Given the description of an element on the screen output the (x, y) to click on. 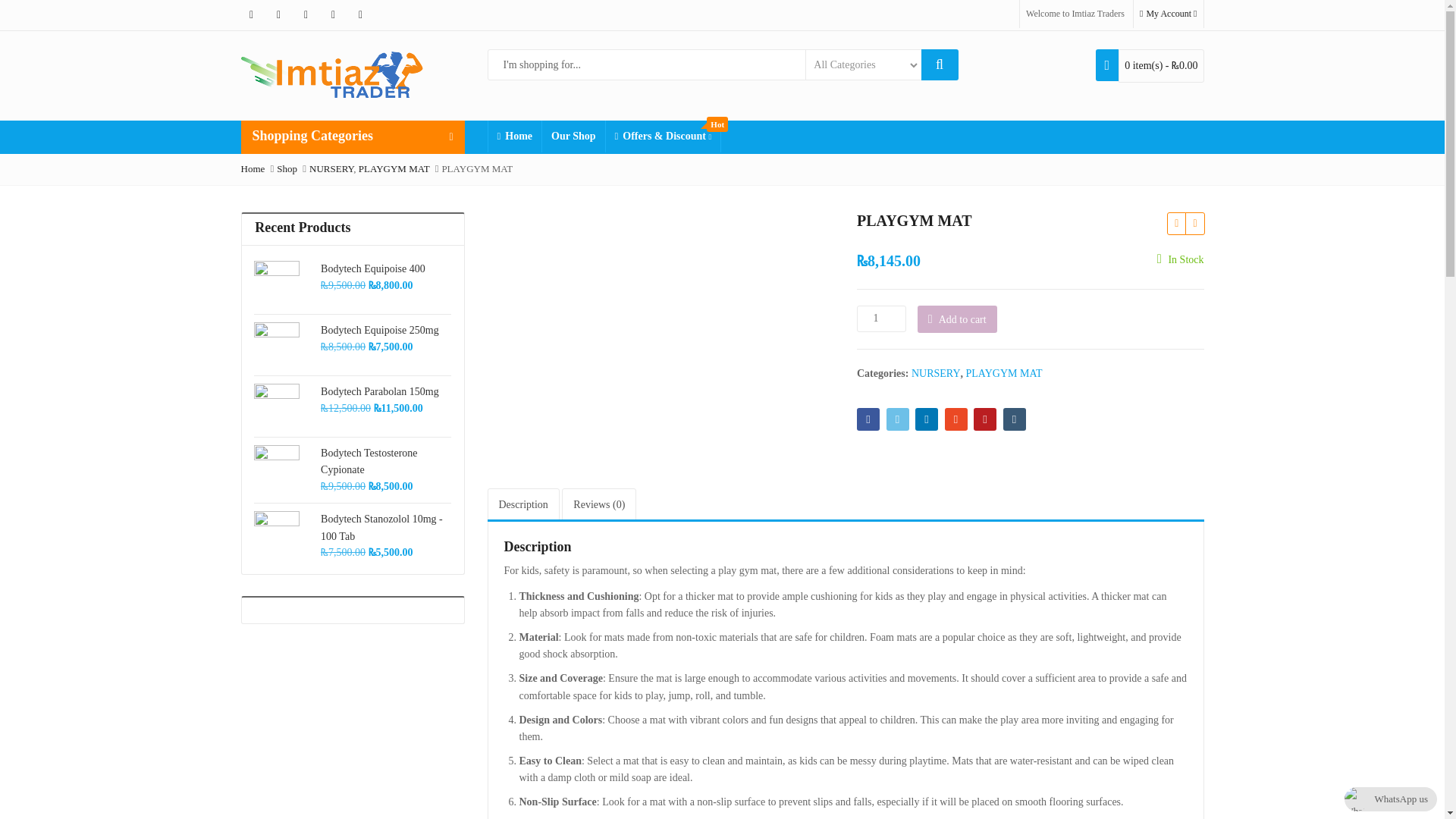
Share on LinkedIn (926, 418)
Qty (881, 318)
Share on Pinterest (984, 418)
Share on Twitter (896, 418)
Share on Facebook (868, 418)
Share on Stumbleupon (956, 418)
Bodytech Equipoise 400 (383, 269)
Share on Tumblr (1014, 418)
1 (881, 318)
Go to Home Page (252, 168)
